Given the description of an element on the screen output the (x, y) to click on. 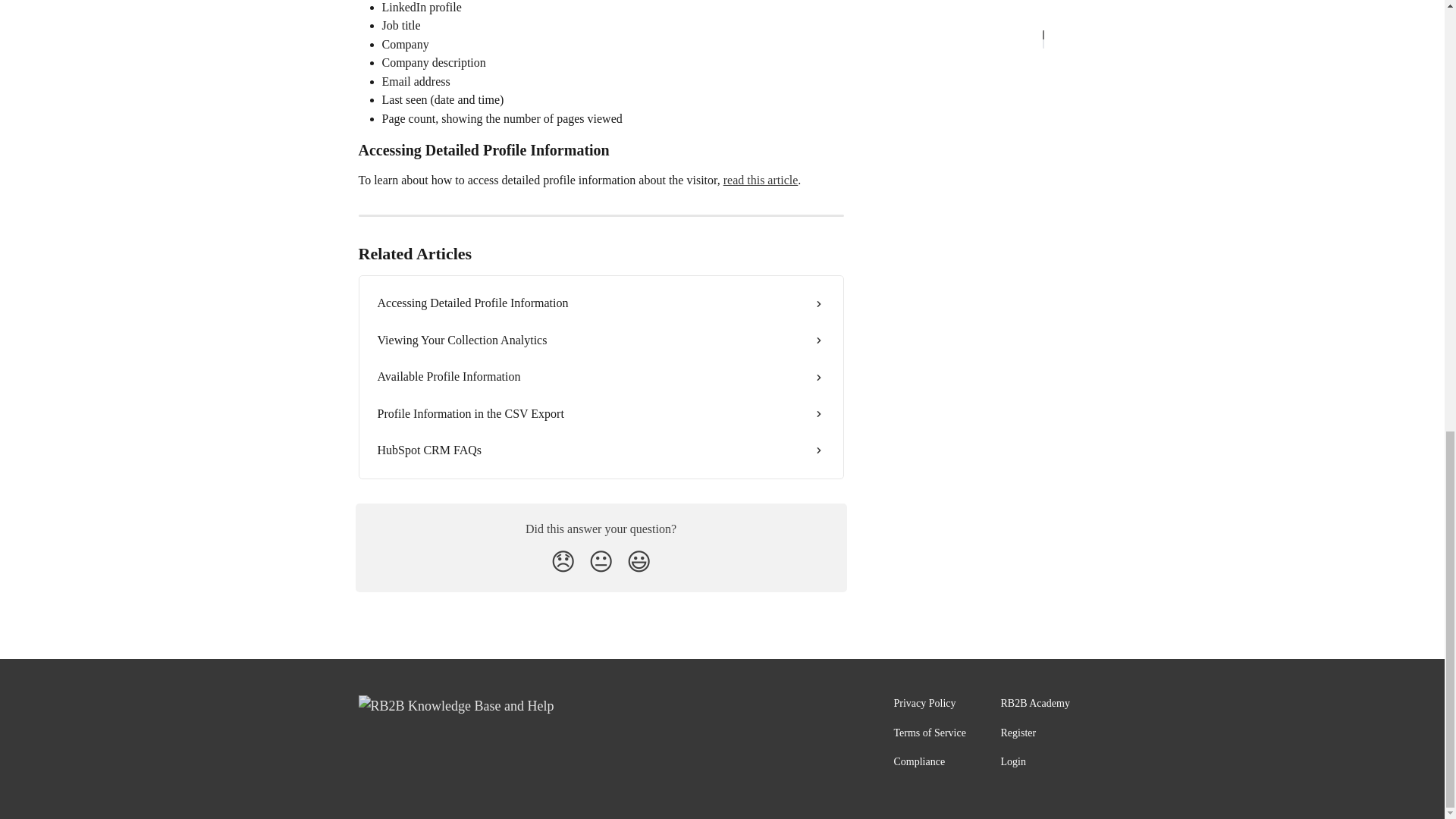
Terms of Service (929, 732)
read this article (760, 179)
Smiley (638, 561)
Neutral (600, 561)
Privacy Policy (924, 703)
RB2B Academy (1035, 703)
Viewing Your Collection Analytics (601, 340)
Accessing Detailed Profile Information (601, 303)
Disappointed (562, 561)
Register (1018, 732)
